Given the description of an element on the screen output the (x, y) to click on. 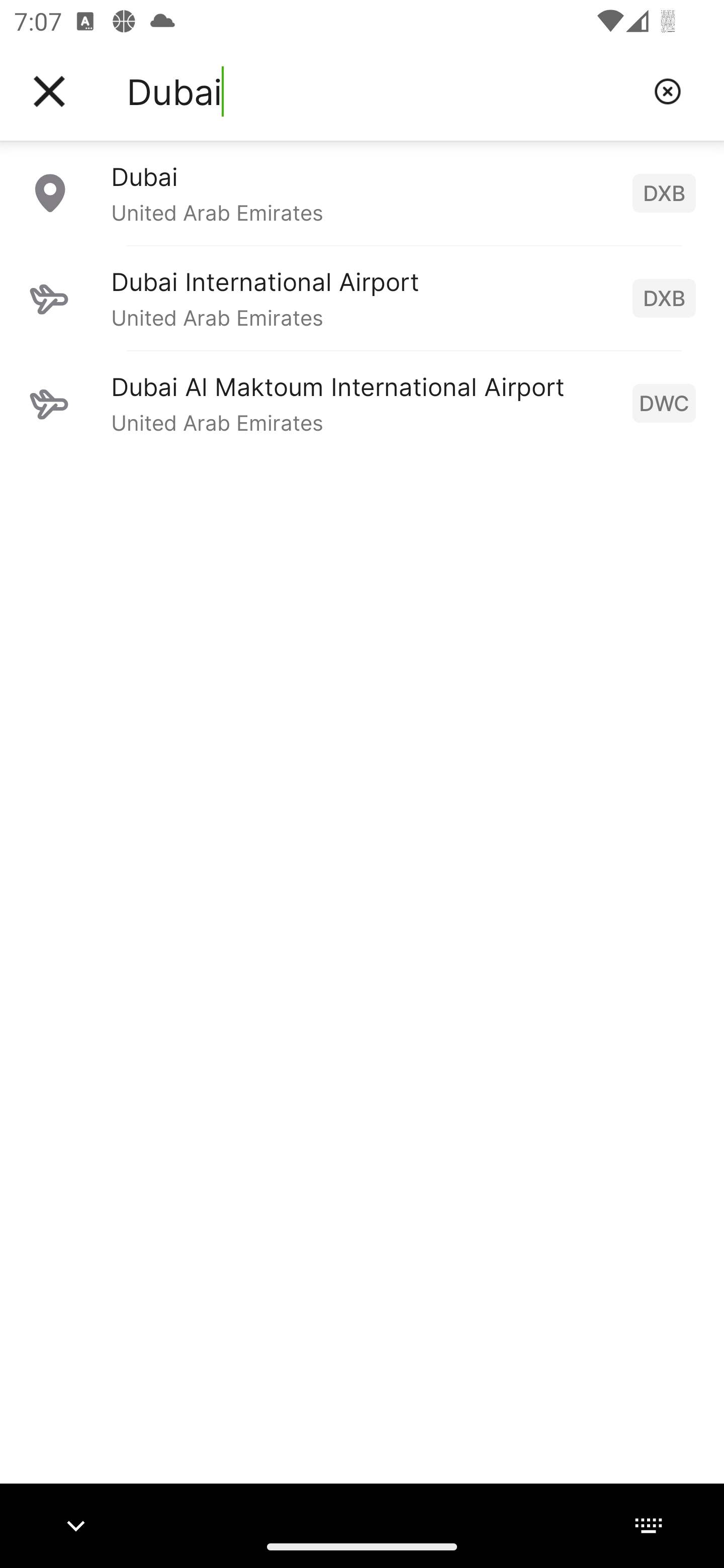
Dubai (382, 91)
Dubai United Arab Emirates DXB (362, 192)
